Given the description of an element on the screen output the (x, y) to click on. 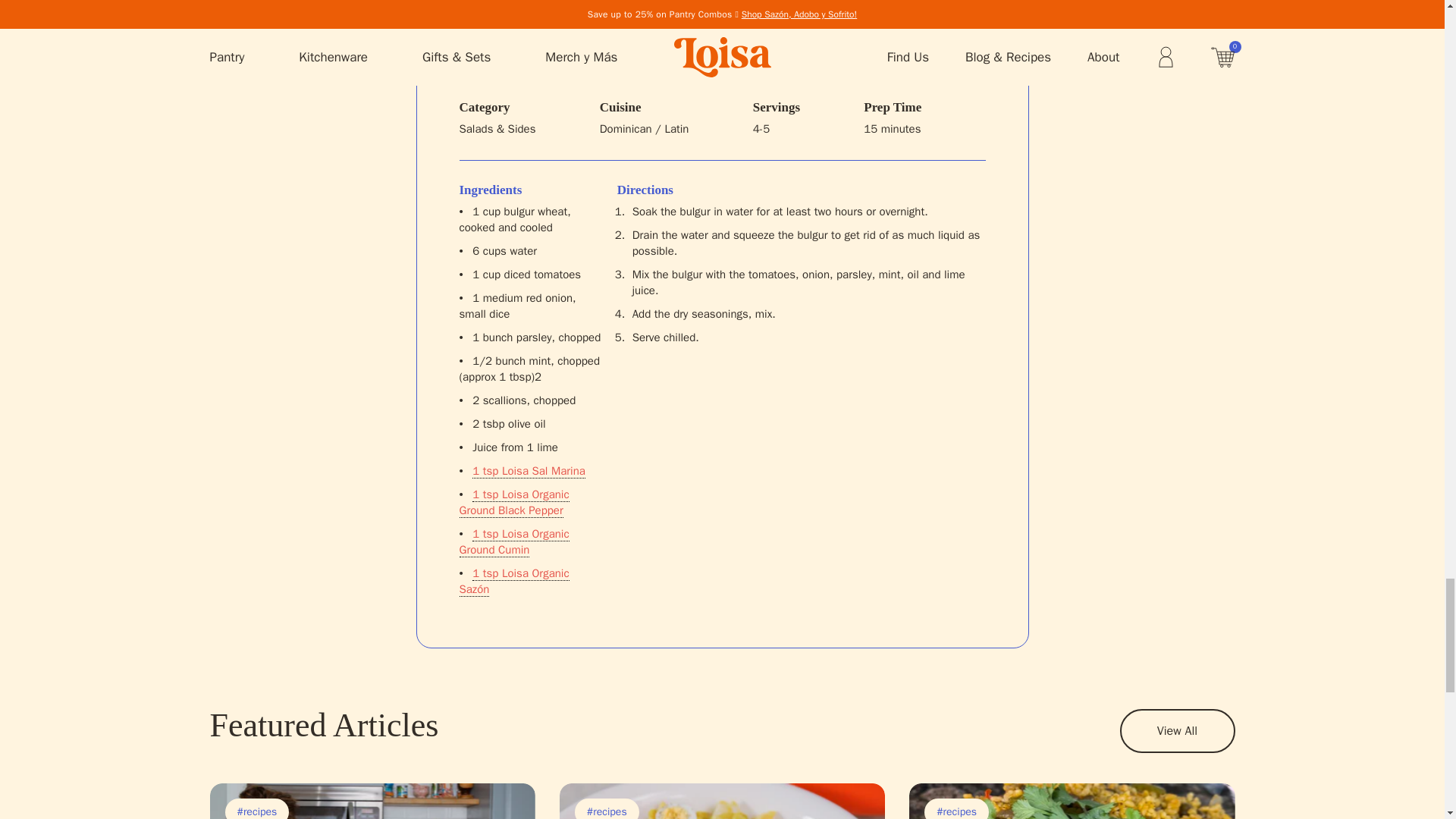
1 tsp Loisa Organic Ground Cumin (514, 542)
1 tsp Loisa Sal Marina (528, 471)
View All (1176, 730)
1 tsp Loisa Organic Ground Black Pepper (514, 502)
